Given the description of an element on the screen output the (x, y) to click on. 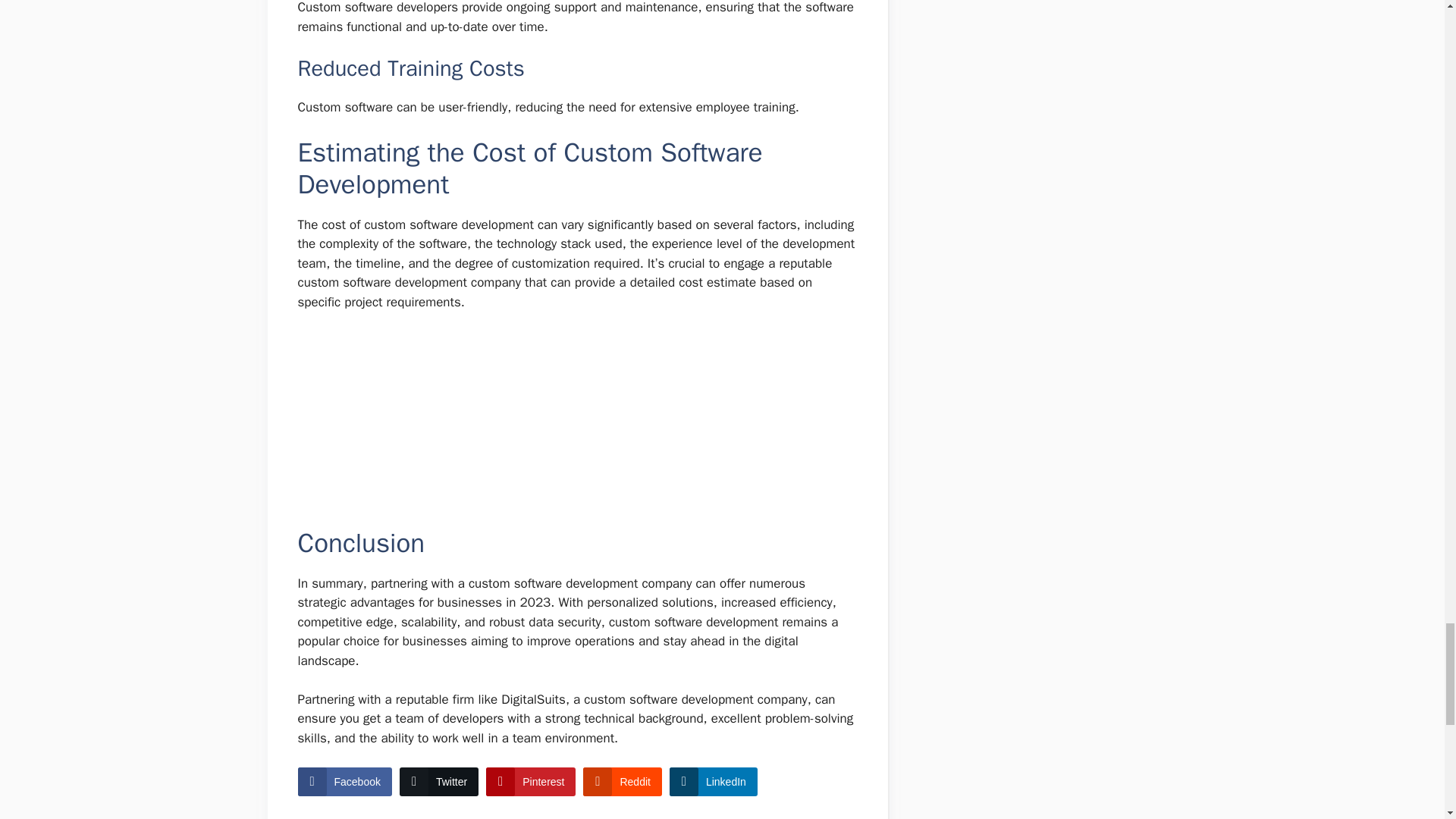
Pinterest (530, 781)
Twitter (438, 781)
Reddit (622, 781)
Facebook (344, 781)
LinkedIn (713, 781)
